Given the description of an element on the screen output the (x, y) to click on. 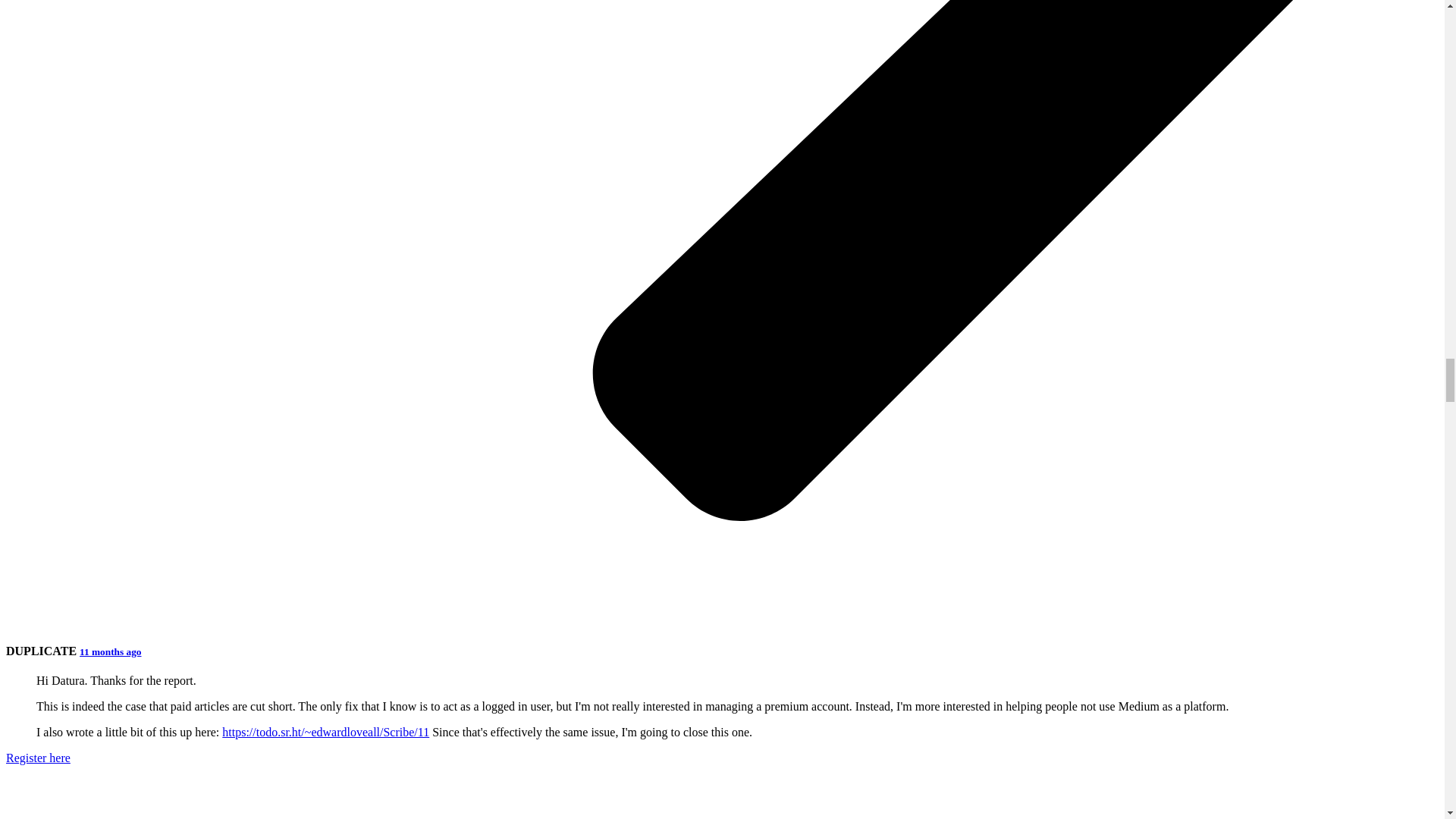
2023-08-21 12:21:14 UTC (110, 651)
11 months ago (110, 651)
